Given the description of an element on the screen output the (x, y) to click on. 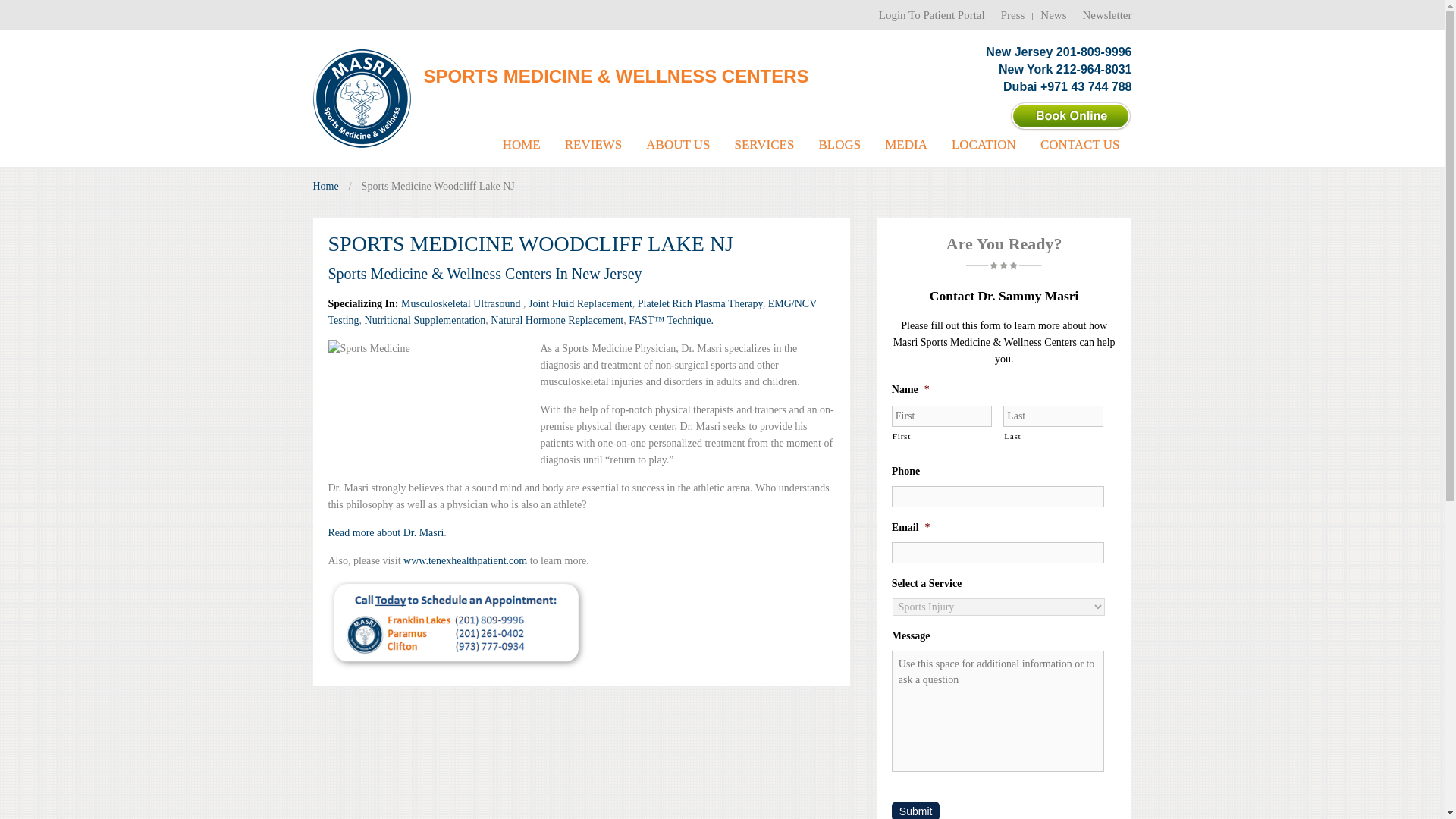
ABOUT US (677, 151)
Submit (915, 810)
REVIEWS (593, 151)
CONTACT US (1079, 151)
Musculoskeletal Ultrasound (461, 303)
Musculoskeletal Ultrasound  (461, 303)
Joint Fluid Replacement (579, 303)
BLOGS (839, 151)
Platelet Rich Plasma Therapy (699, 303)
HOME (521, 151)
MEDIA (905, 151)
LOCATION (983, 151)
Home (325, 186)
SERVICES (764, 151)
